Given the description of an element on the screen output the (x, y) to click on. 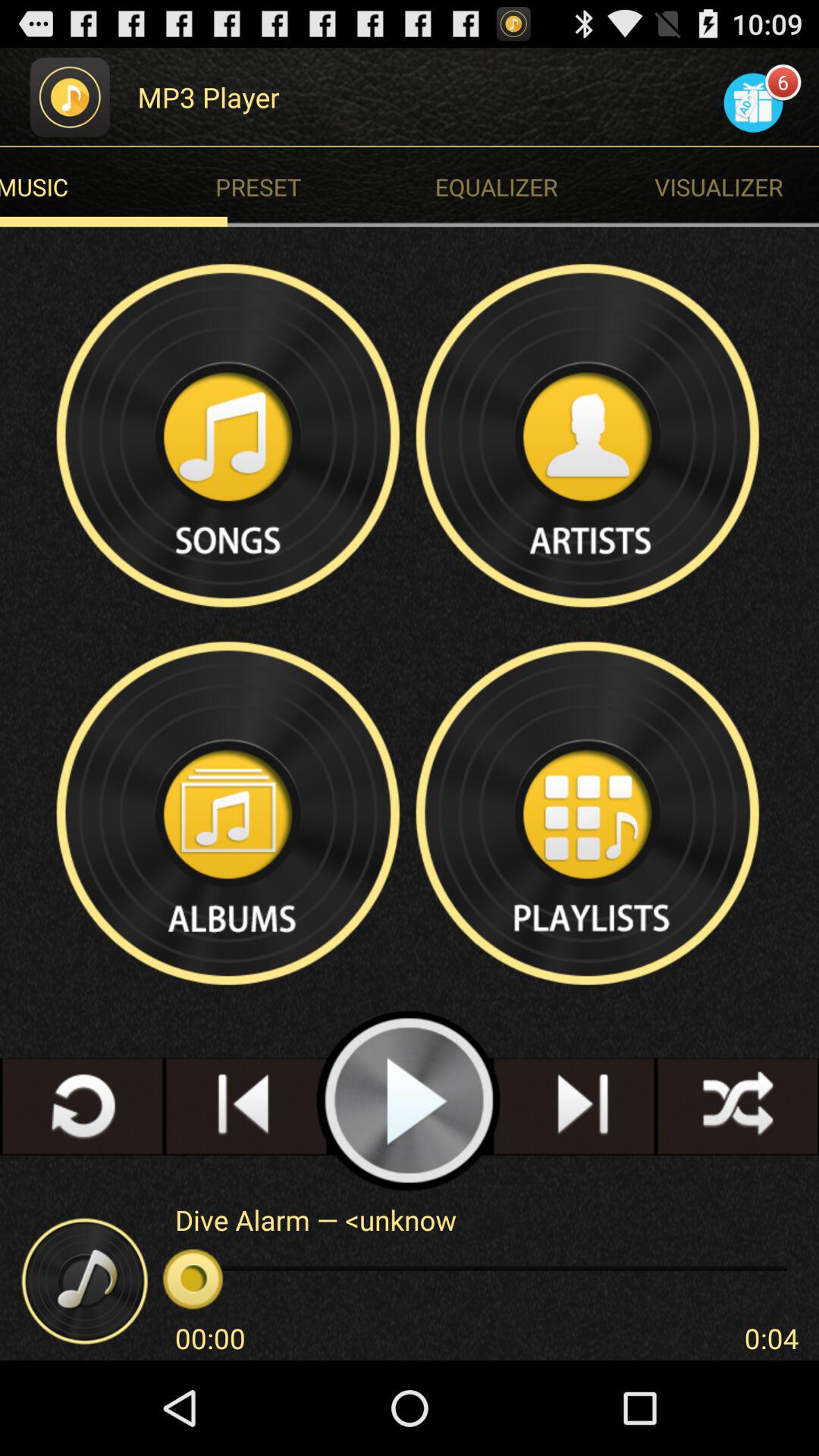
artists option (588, 435)
